Given the description of an element on the screen output the (x, y) to click on. 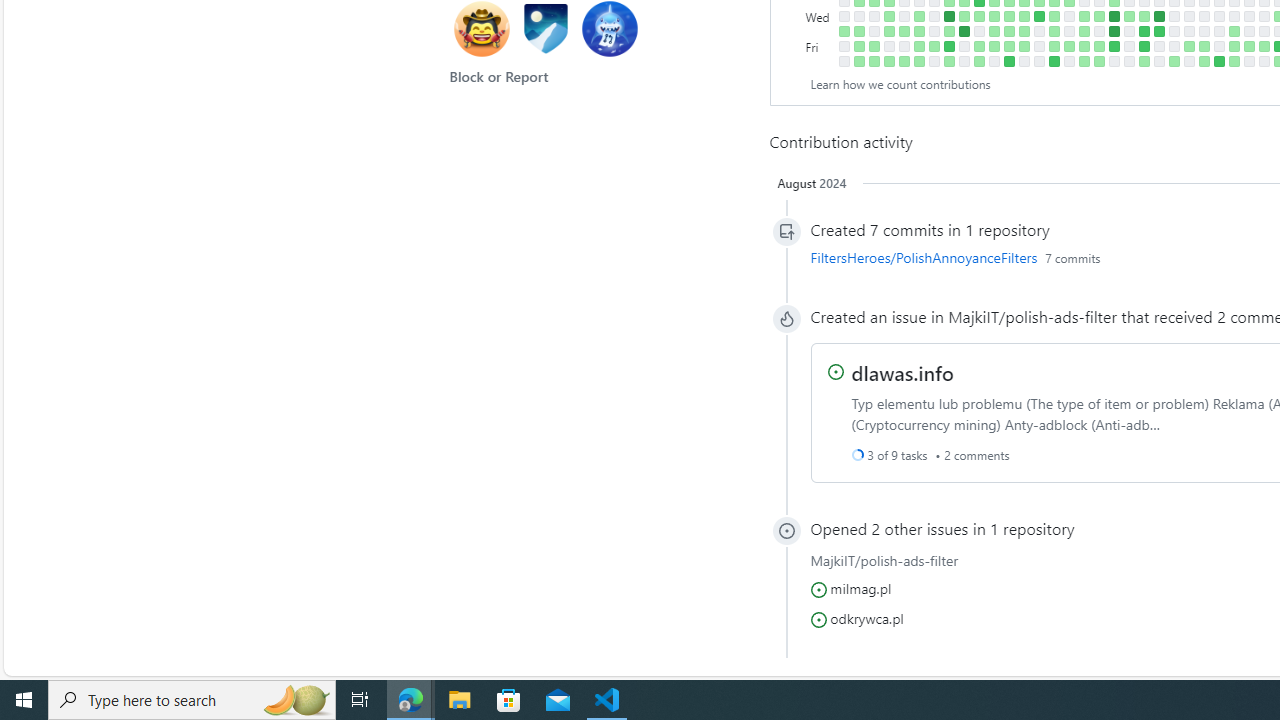
1 contribution on September 8th. (873, 46)
milmag.pl (860, 588)
No contributions on January 31st. (1188, 16)
4 contributions on September 29th. (918, 46)
No contributions on August 26th. (843, 61)
1 contribution on December 22nd. (1098, 46)
No contributions on October 4th. (933, 16)
No contributions on March 2nd. (1248, 61)
1 contribution on September 1st. (858, 46)
No contributions on November 18th. (1023, 61)
No contributions on January 25th. (1173, 30)
1 contribution on March 8th. (1263, 46)
13 contributions on December 28th. (1114, 30)
3 contributions on January 10th. (1143, 16)
3 contributions on September 9th. (873, 61)
